Given the description of an element on the screen output the (x, y) to click on. 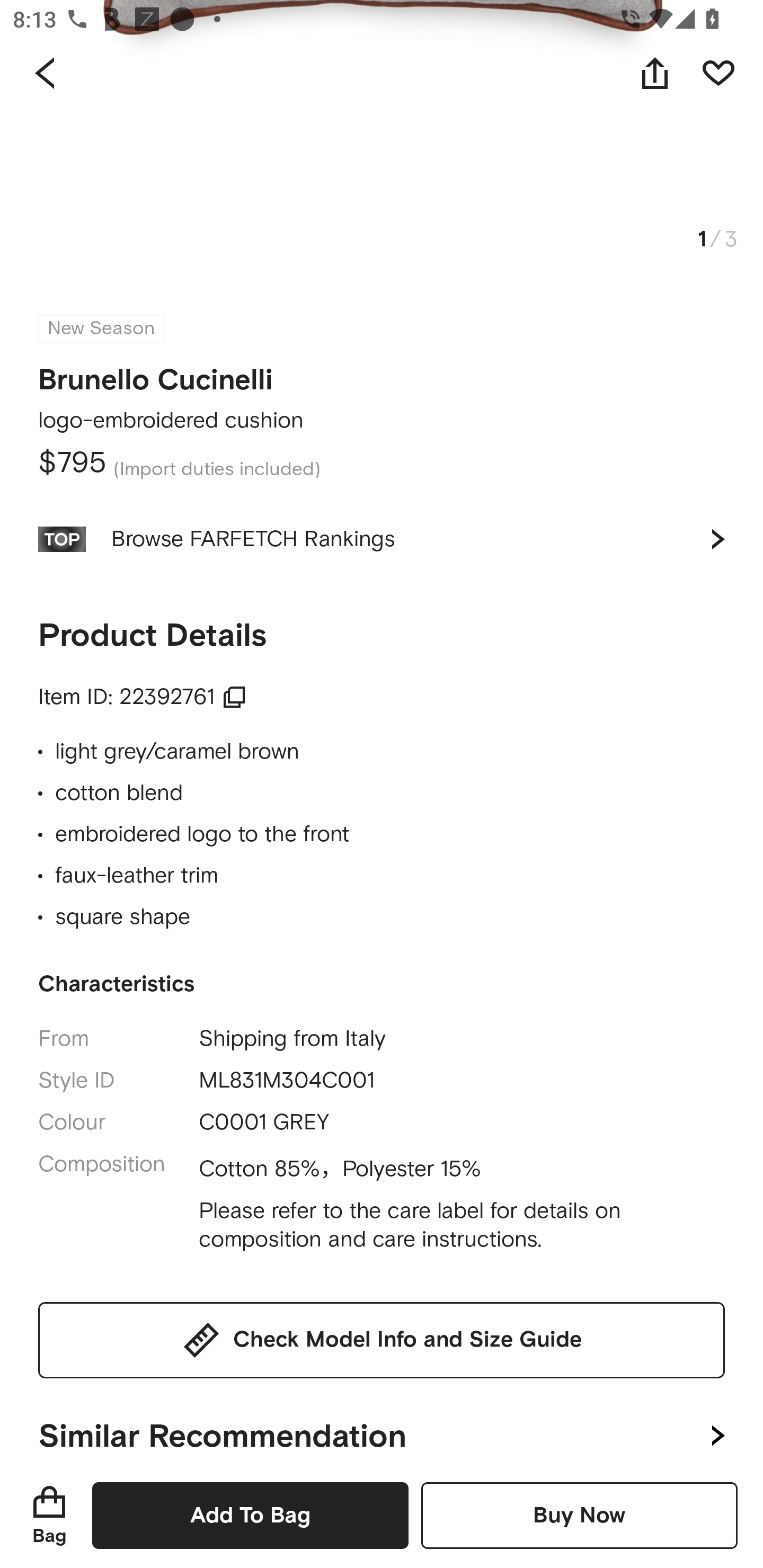
Brunello Cucinelli (155, 374)
Browse FARFETCH Rankings (381, 539)
Item ID: 22392761 (142, 696)
 Check Model Info and Size Guide (381, 1339)
Similar Recommendation (381, 1420)
Bag (49, 1515)
Add To Bag (250, 1515)
Buy Now (579, 1515)
